Given the description of an element on the screen output the (x, y) to click on. 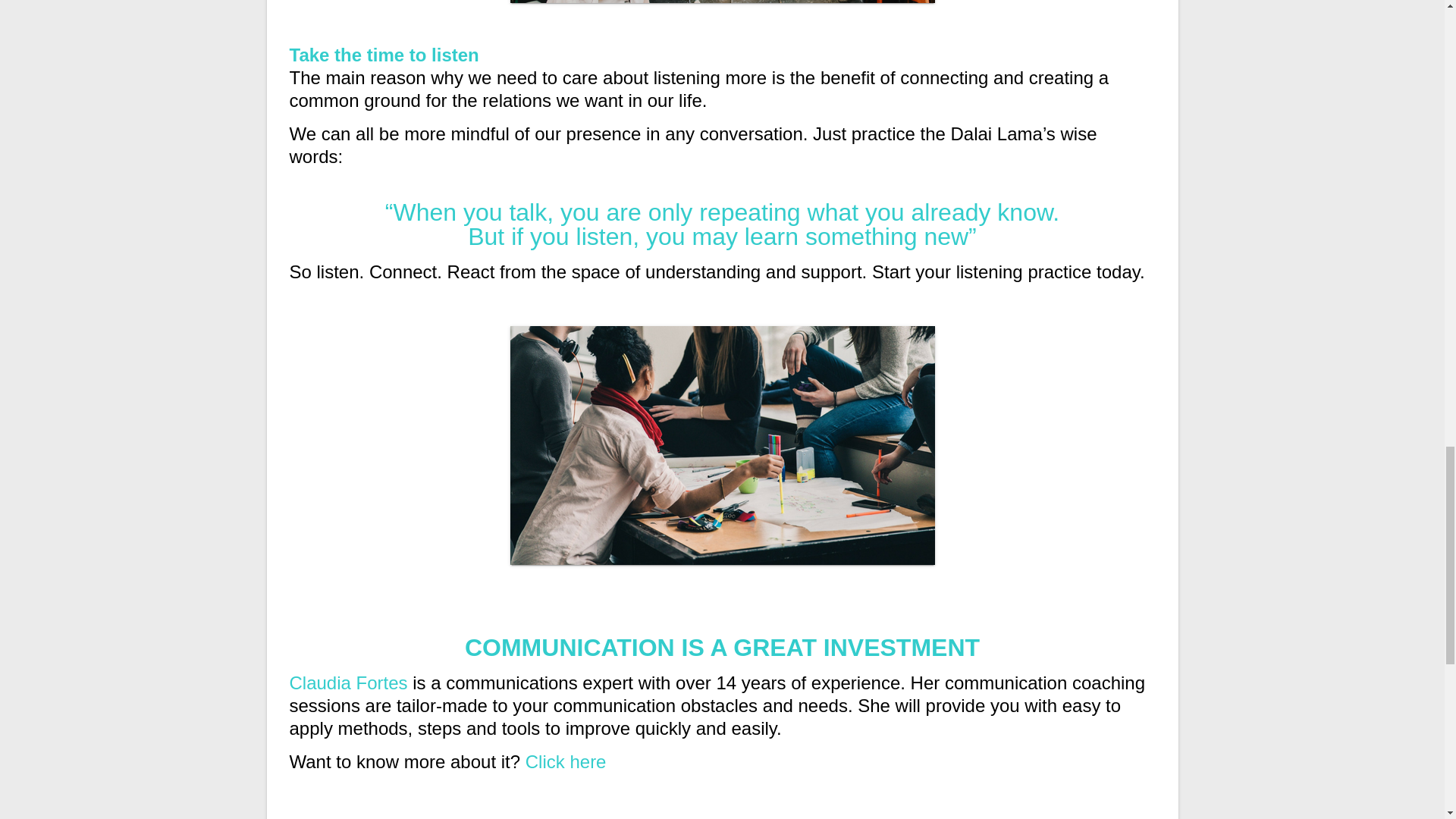
Click here (566, 761)
Claudia Fortes (348, 682)
